Given the description of an element on the screen output the (x, y) to click on. 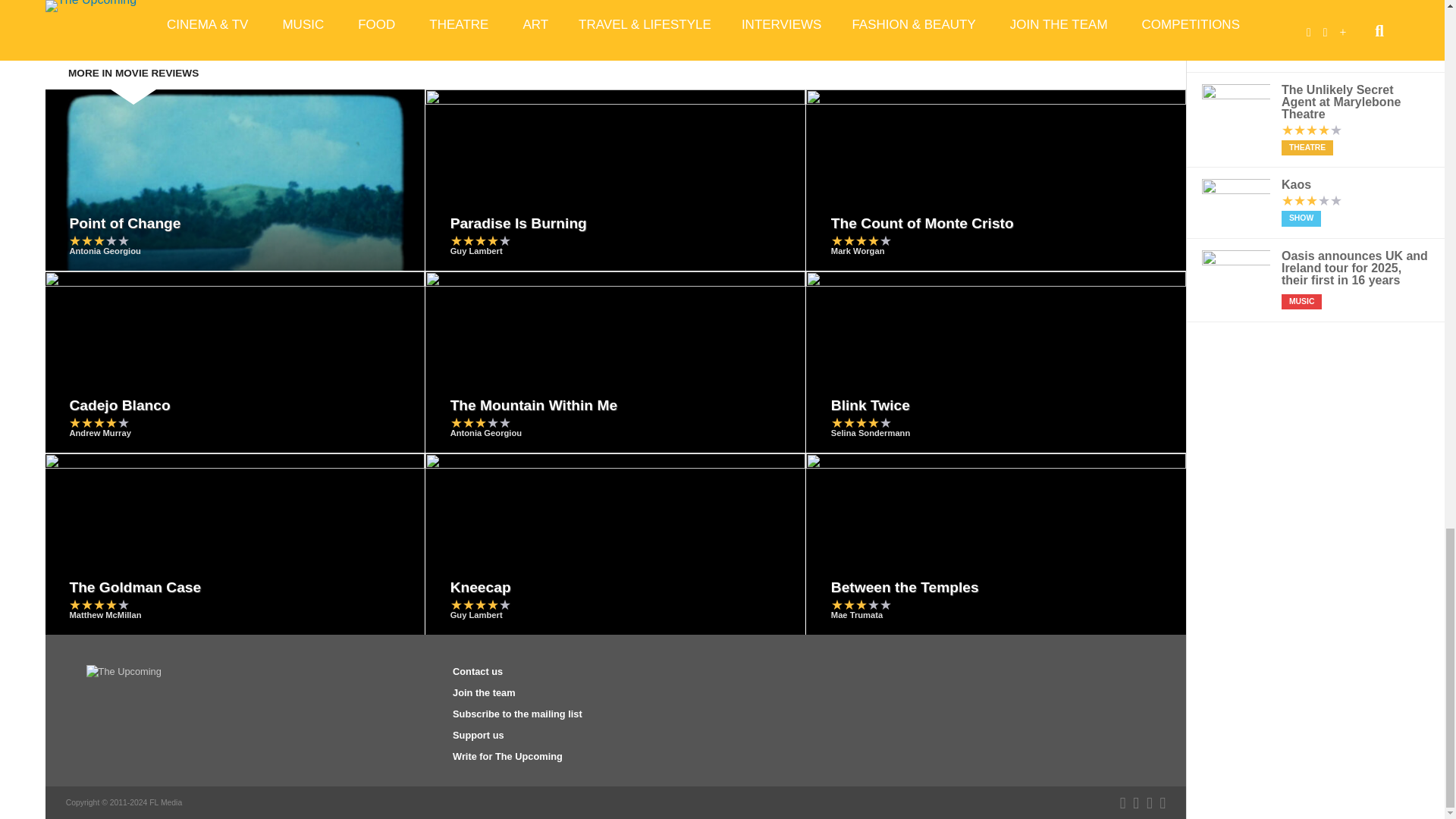
4 out of 5 stars (480, 240)
3 out of 5 stars (98, 240)
Blade Of The Immortal  - Official UK trailer (331, 5)
